Given the description of an element on the screen output the (x, y) to click on. 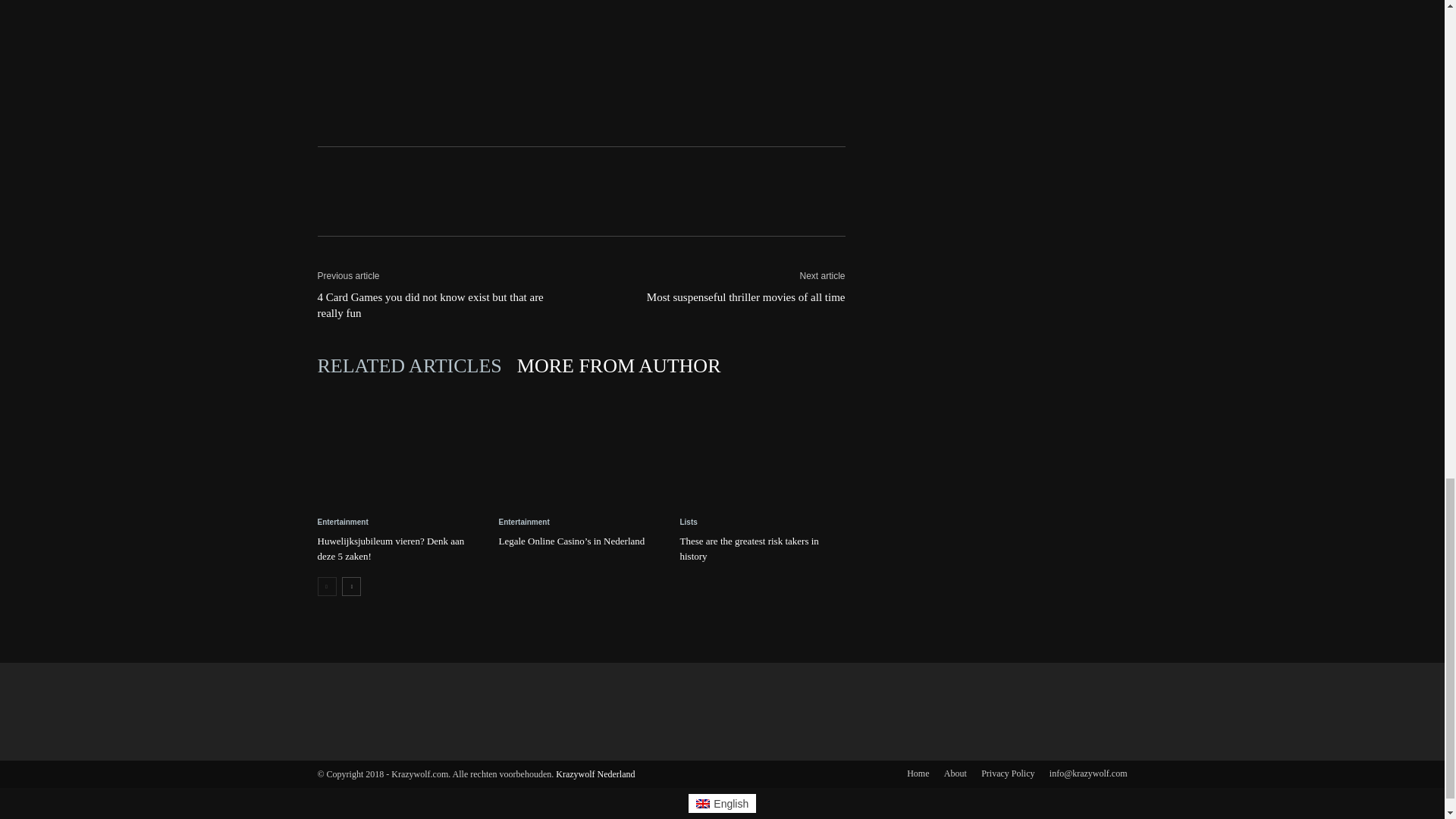
These are the greatest risk takers in history (748, 548)
Huwelijksjubileum vieren? Denk aan deze 5 zaken! (399, 449)
These are the greatest risk takers in history (761, 449)
Huwelijksjubileum vieren? Denk aan deze 5 zaken! (390, 548)
